Given the description of an element on the screen output the (x, y) to click on. 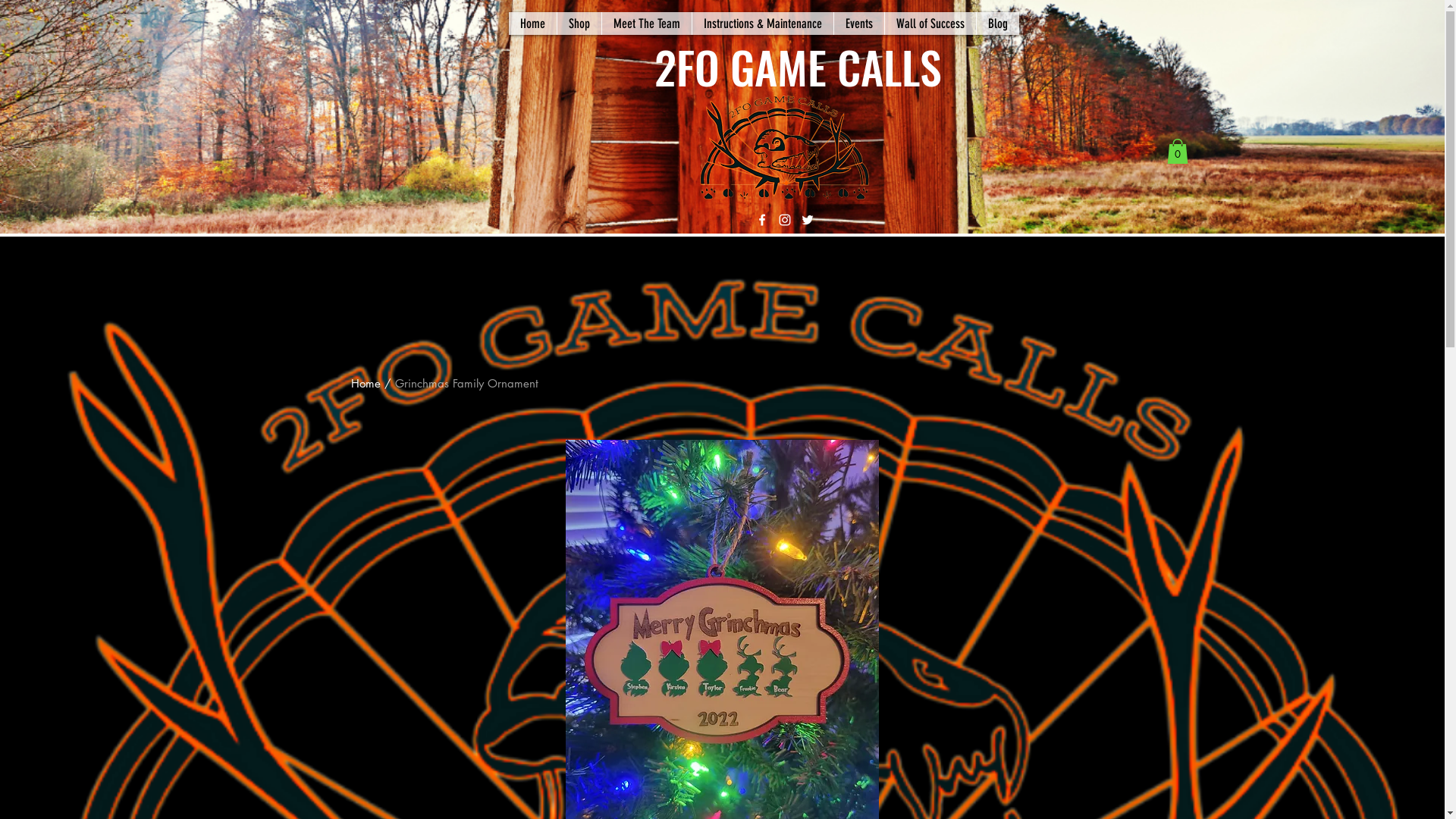
Shop Element type: text (578, 23)
 2FO GAME CALLS Element type: text (792, 66)
Events Element type: text (858, 23)
Wall of Success Element type: text (929, 23)
Grinchmas Family Ornament Element type: text (465, 383)
Meet The Team Element type: text (646, 23)
0 Element type: text (1177, 150)
Instructions & Maintenance Element type: text (762, 23)
Home Element type: text (364, 383)
Blog Element type: text (997, 23)
Home Element type: text (532, 23)
